Given the description of an element on the screen output the (x, y) to click on. 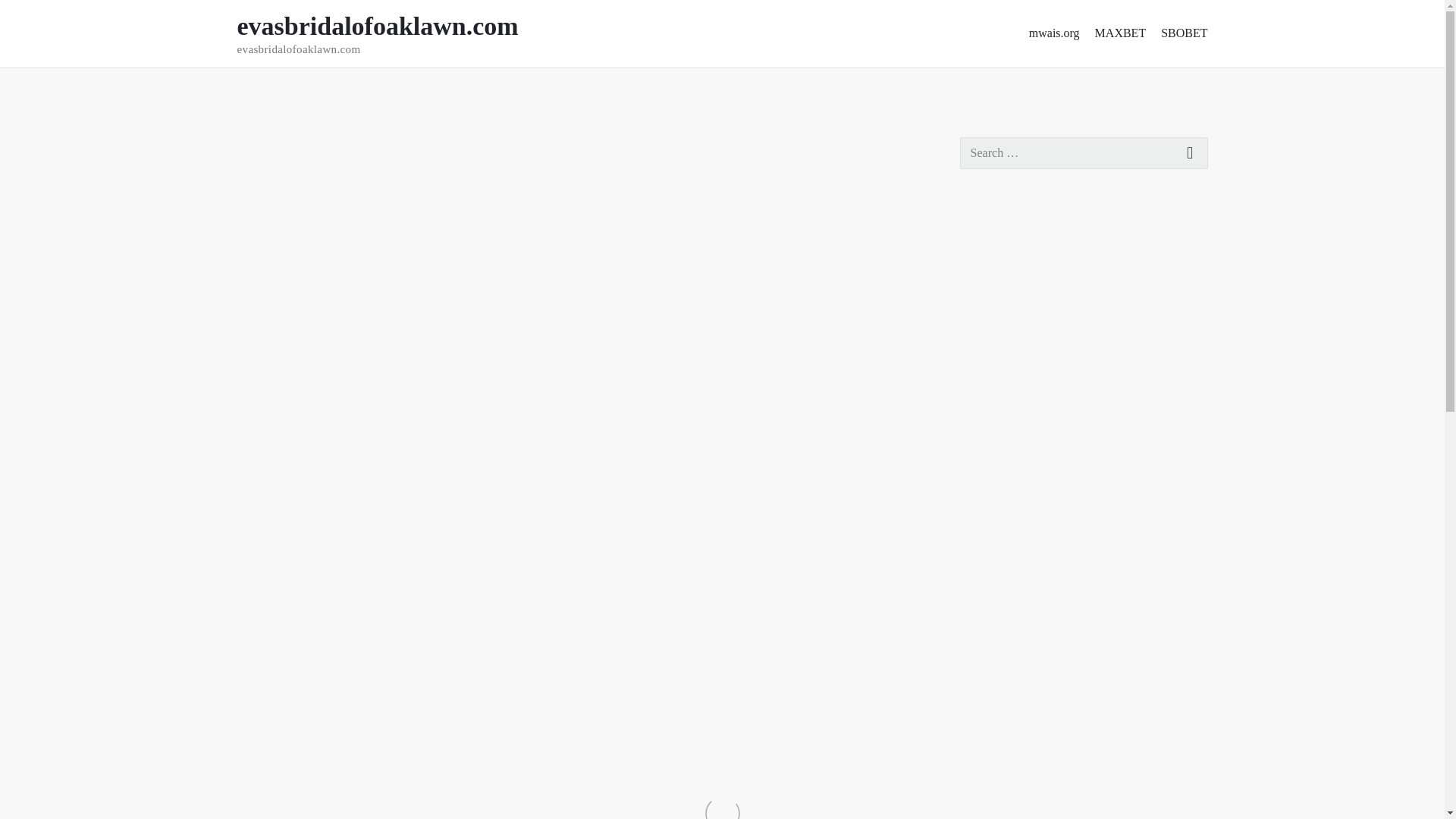
Gambling (305, 89)
Managing Your Bankroll When Playing Poker Online (1077, 259)
September 2023 (397, 33)
June 2023 (1001, 707)
Posts by evasbridalofoaklawn (985, 804)
December 2023 (367, 145)
How to Stay Safe When Gambling Online (1000, 608)
November 2023 (1067, 299)
January 2024 (1000, 641)
